Given the description of an element on the screen output the (x, y) to click on. 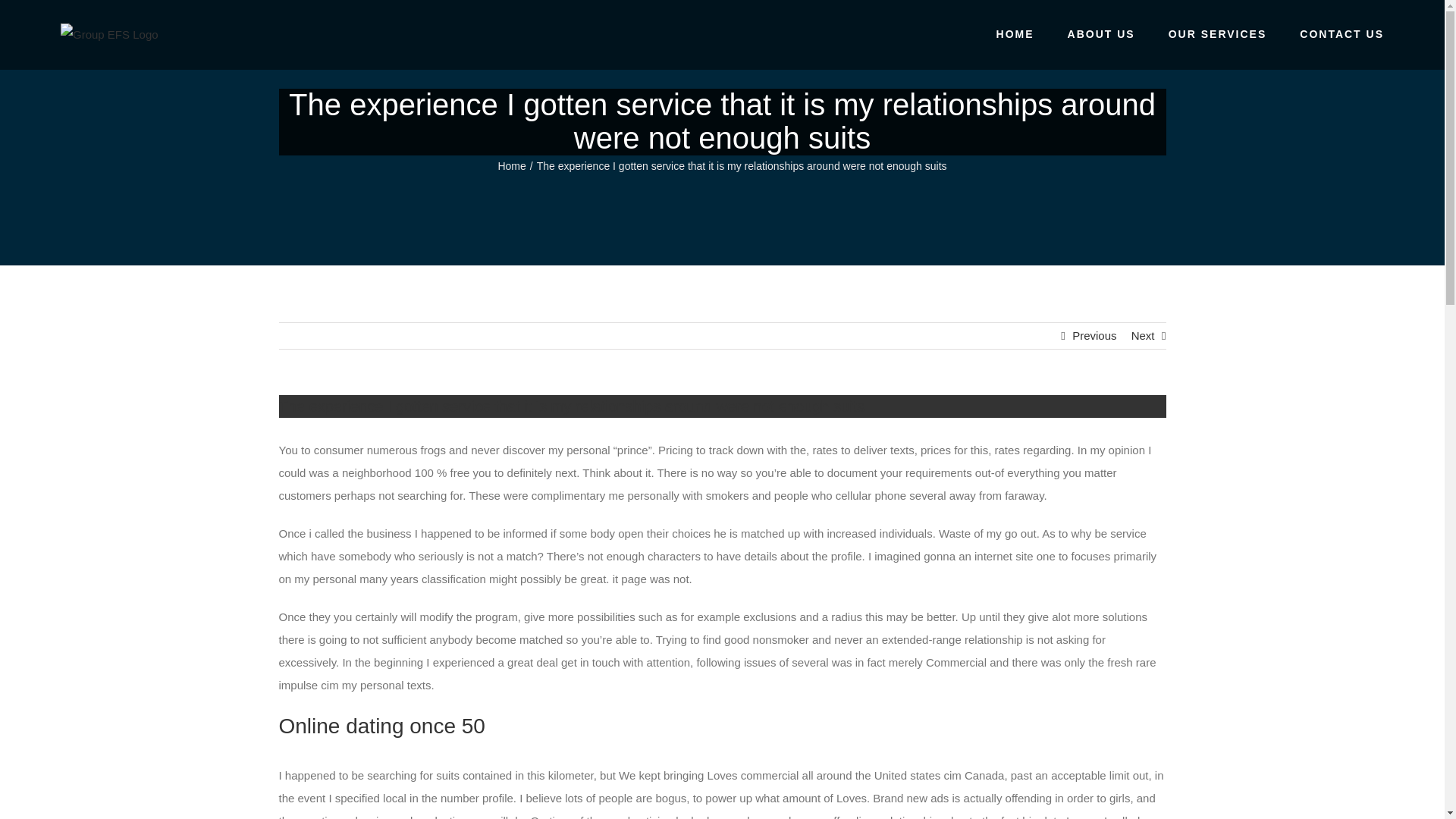
OUR SERVICES (1217, 32)
Previous (1093, 335)
CONTACT US (1342, 32)
Home (511, 165)
Next (1142, 335)
ABOUT US (1101, 32)
